Given the description of an element on the screen output the (x, y) to click on. 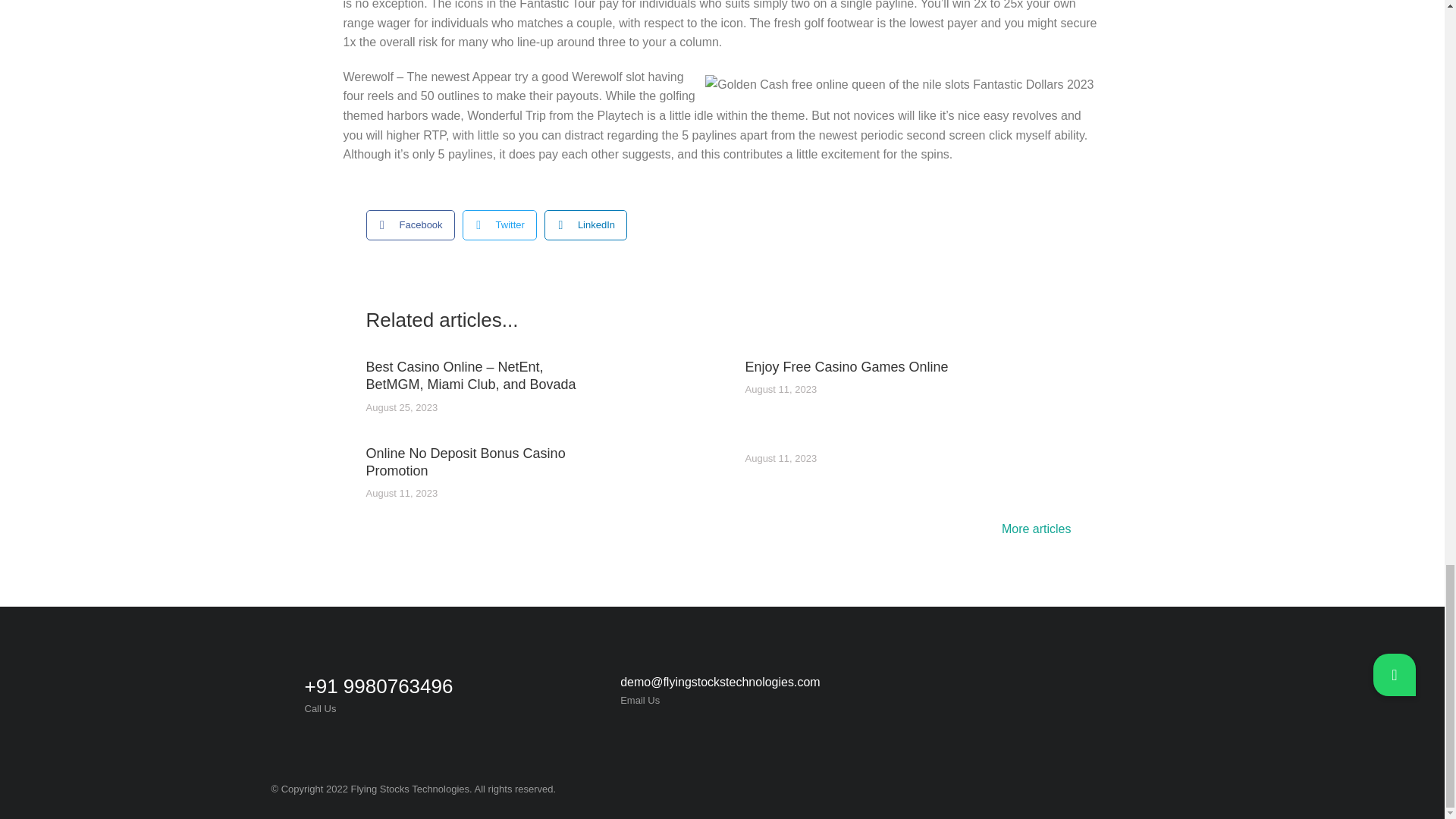
Online No Deposit Bonus Casino Promotion (474, 462)
1:50 pm (401, 408)
12:07 am (780, 390)
Online No Deposit Bonus Casino Promotion (474, 462)
Enjoy Free Casino Games Online (845, 366)
August 11, 2023 (780, 459)
12:00 am (401, 493)
August 11, 2023 (780, 390)
12:00 am (780, 459)
August 11, 2023 (401, 493)
More articles (1039, 530)
August 25, 2023 (401, 408)
Enjoy Free Casino Games Online (845, 366)
